Given the description of an element on the screen output the (x, y) to click on. 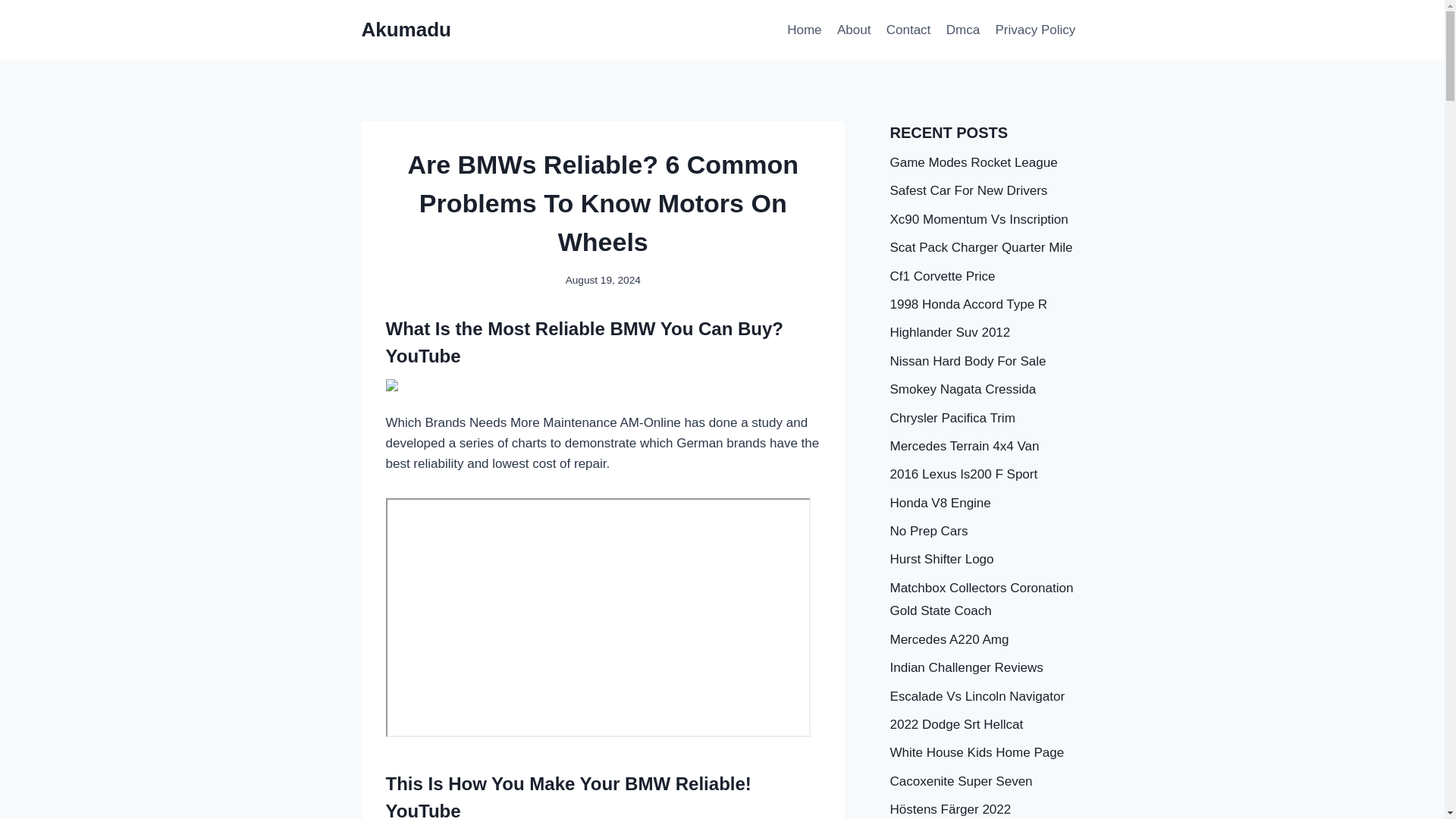
White House Kids Home Page (976, 752)
Smokey Nagata Cressida (962, 389)
2022 Dodge Srt Hellcat (956, 724)
Safest Car For New Drivers (968, 190)
2016 Lexus Is200 F Sport (963, 473)
Akumadu (405, 29)
Chrysler Pacifica Trim (951, 418)
Hurst Shifter Logo (941, 559)
1998 Honda Accord Type R (968, 304)
Scat Pack Charger Quarter Mile (981, 247)
